Given the description of an element on the screen output the (x, y) to click on. 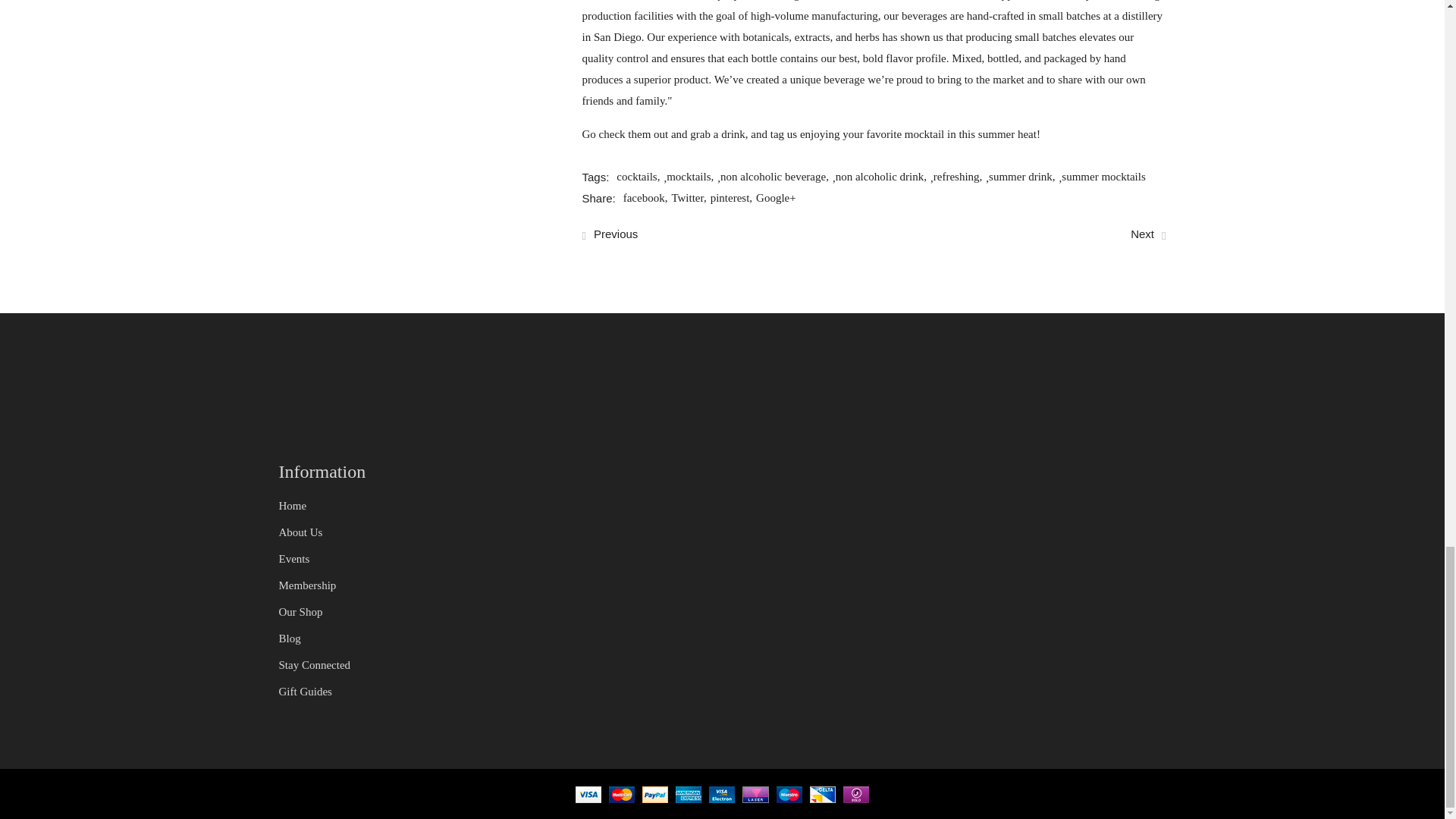
Share on Facebook (647, 198)
Share on Twitter (690, 198)
cocktails (639, 178)
Share on Pinterest (732, 198)
